Given the description of an element on the screen output the (x, y) to click on. 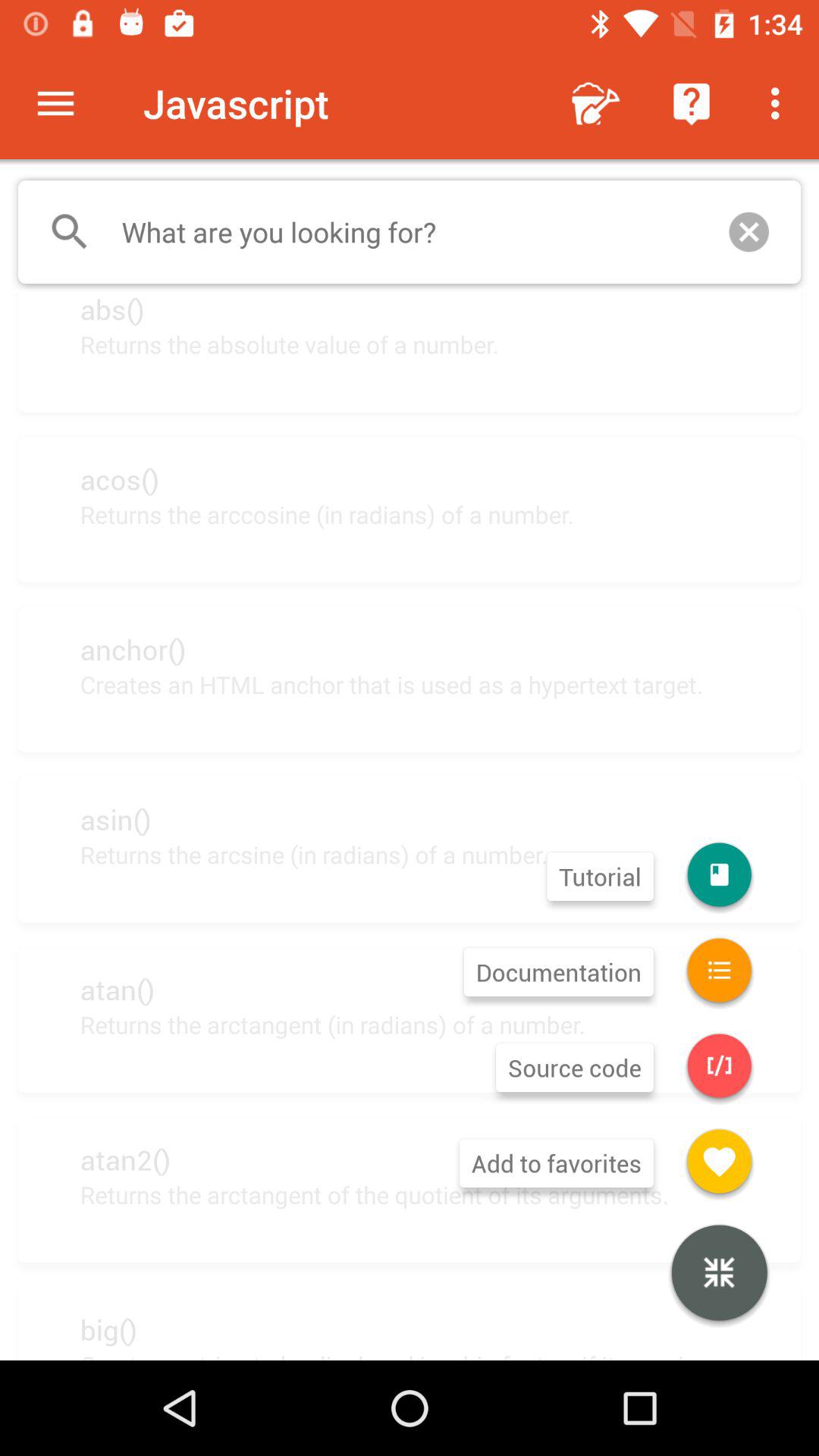
turn off item above the creates a string item (719, 1274)
